Given the description of an element on the screen output the (x, y) to click on. 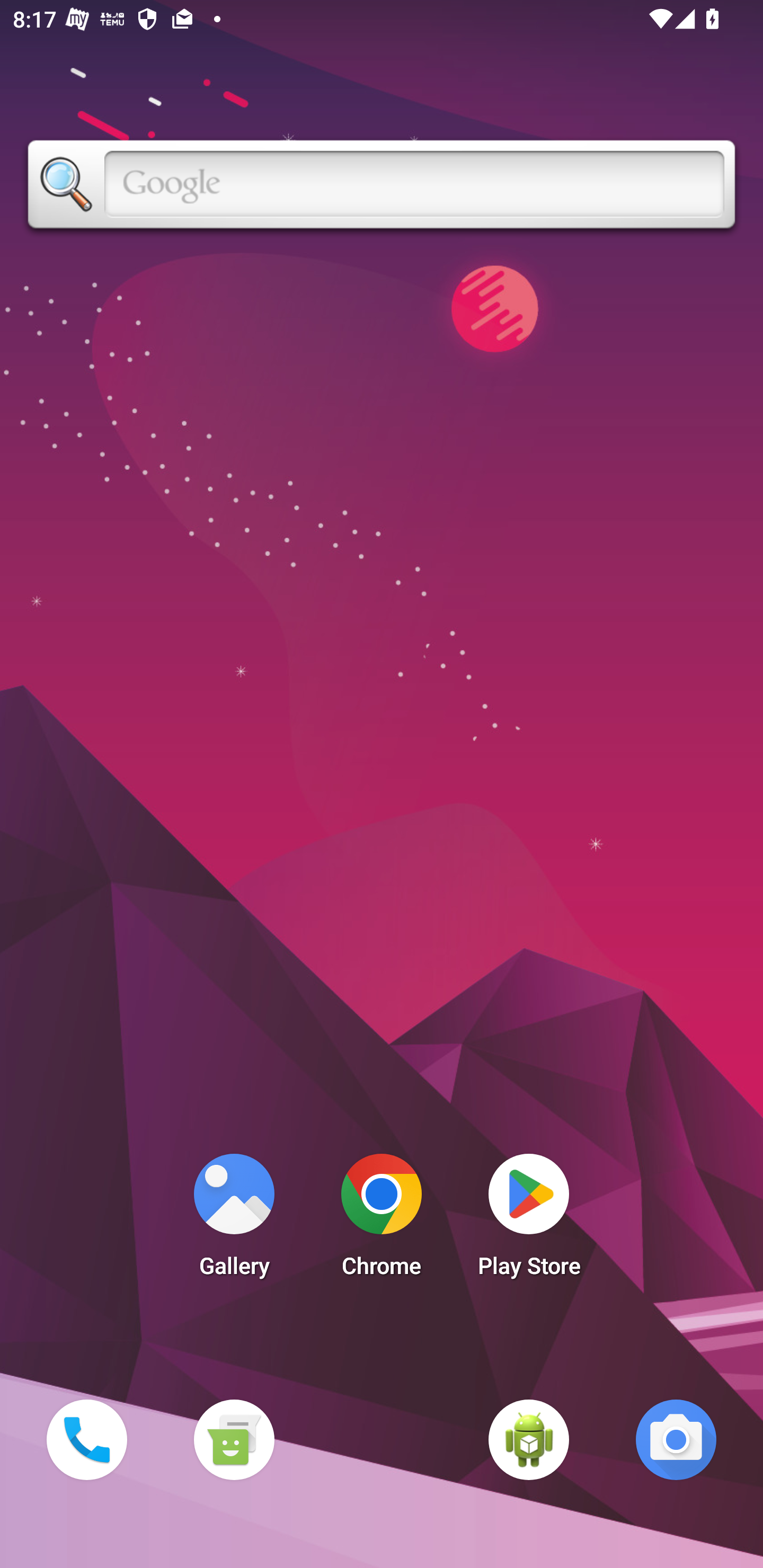
Gallery (233, 1220)
Chrome (381, 1220)
Play Store (528, 1220)
Phone (86, 1439)
Messaging (233, 1439)
WebView Browser Tester (528, 1439)
Camera (676, 1439)
